Given the description of an element on the screen output the (x, y) to click on. 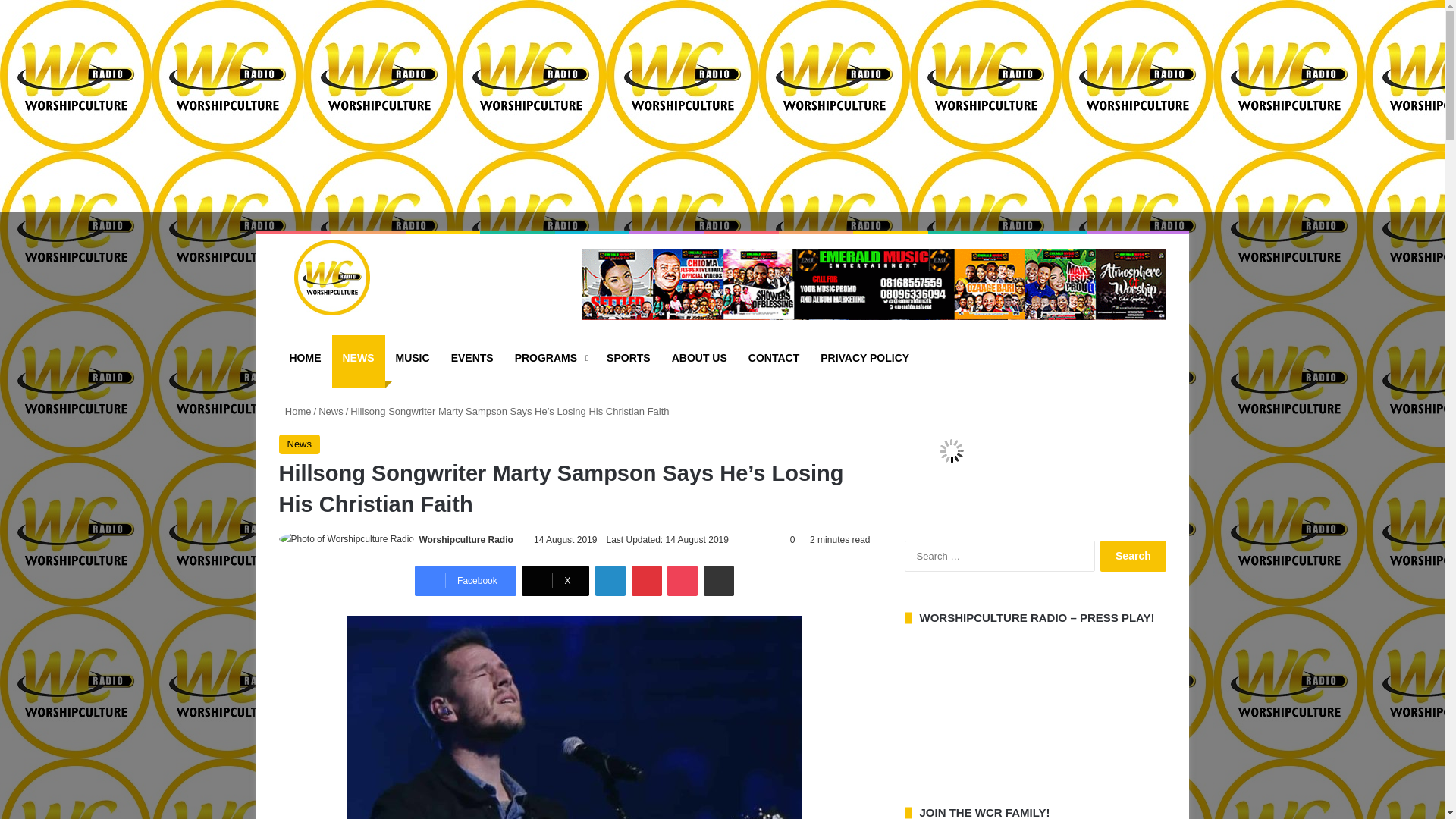
News (299, 444)
LinkedIn (610, 580)
Facebook (465, 580)
Worshipculture Radio (324, 277)
Pinterest (646, 580)
Search (1133, 555)
Pinterest (646, 580)
Pocket (681, 580)
PROGRAMS (549, 357)
